Given the description of an element on the screen output the (x, y) to click on. 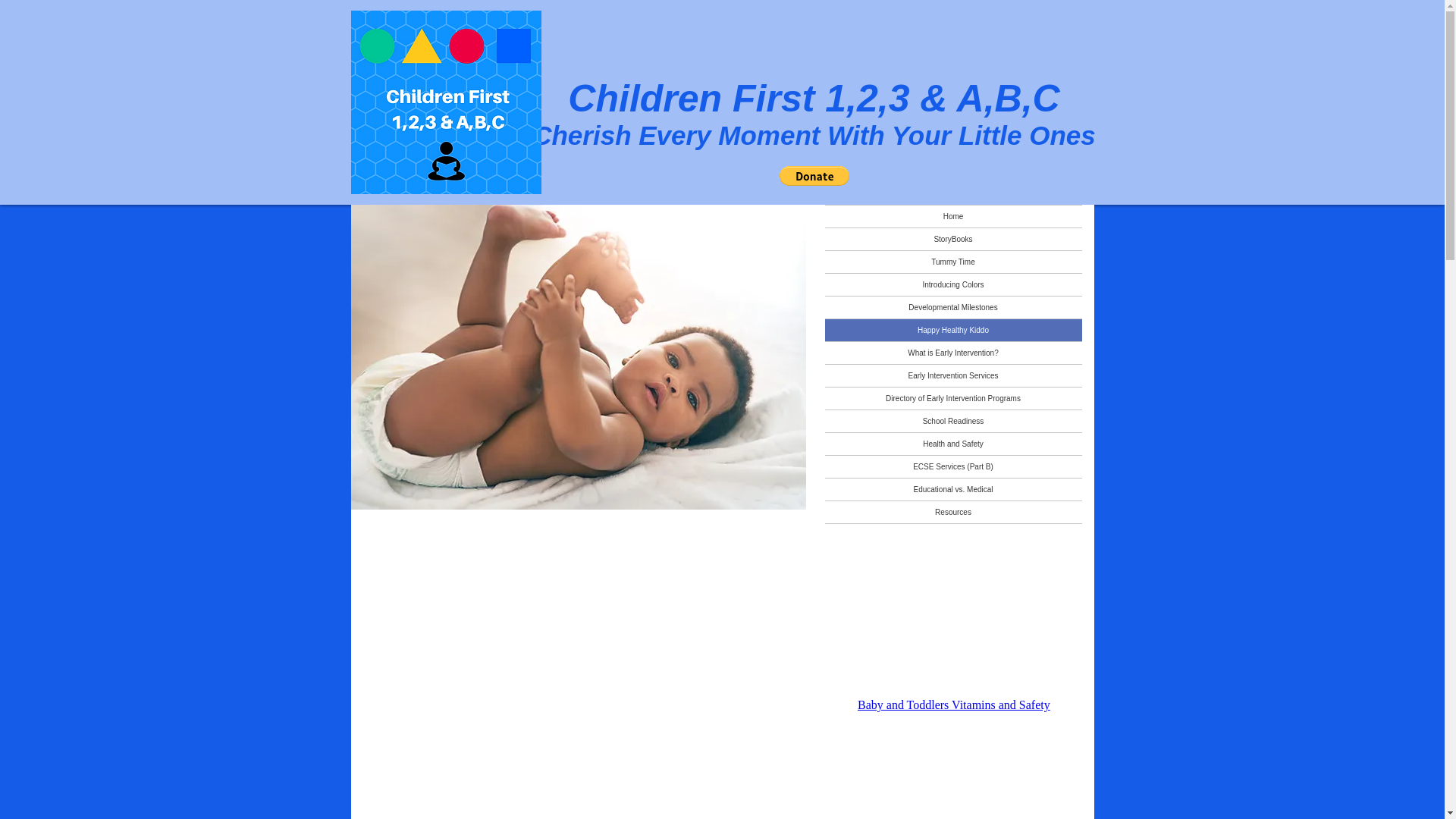
School Readiness (953, 421)
Educational vs. Medical (953, 489)
Baby and Toddlers Vitamins and Safetly (957, 713)
Log In (962, 525)
Health and Safety (953, 444)
Home (953, 216)
Happy Healthy Kiddo (953, 330)
Developmental Milestones (953, 307)
Early Intervention Services (953, 375)
What is Early Intervention? (953, 352)
